Given the description of an element on the screen output the (x, y) to click on. 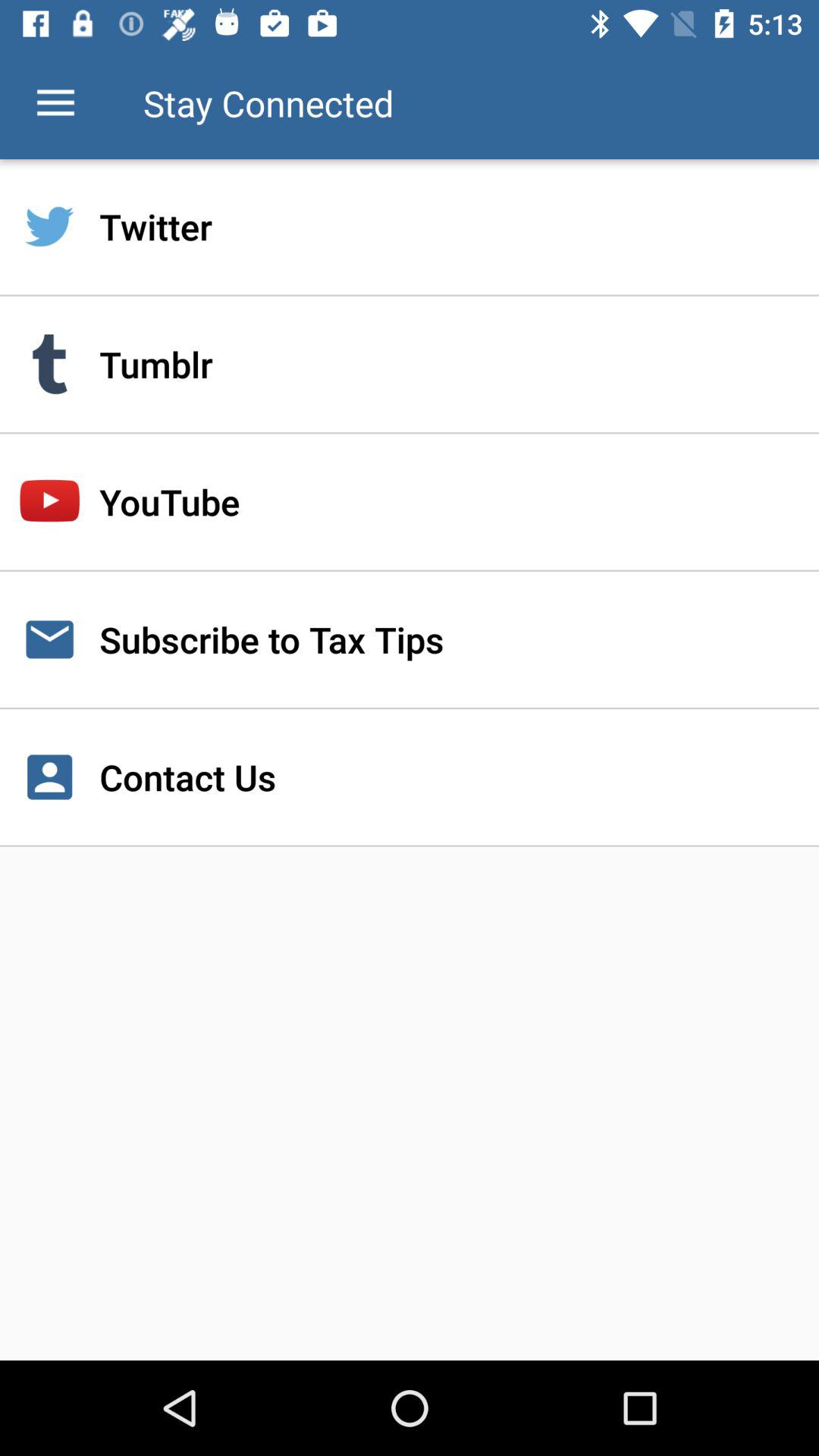
press icon to the left of the stay connected icon (55, 103)
